Given the description of an element on the screen output the (x, y) to click on. 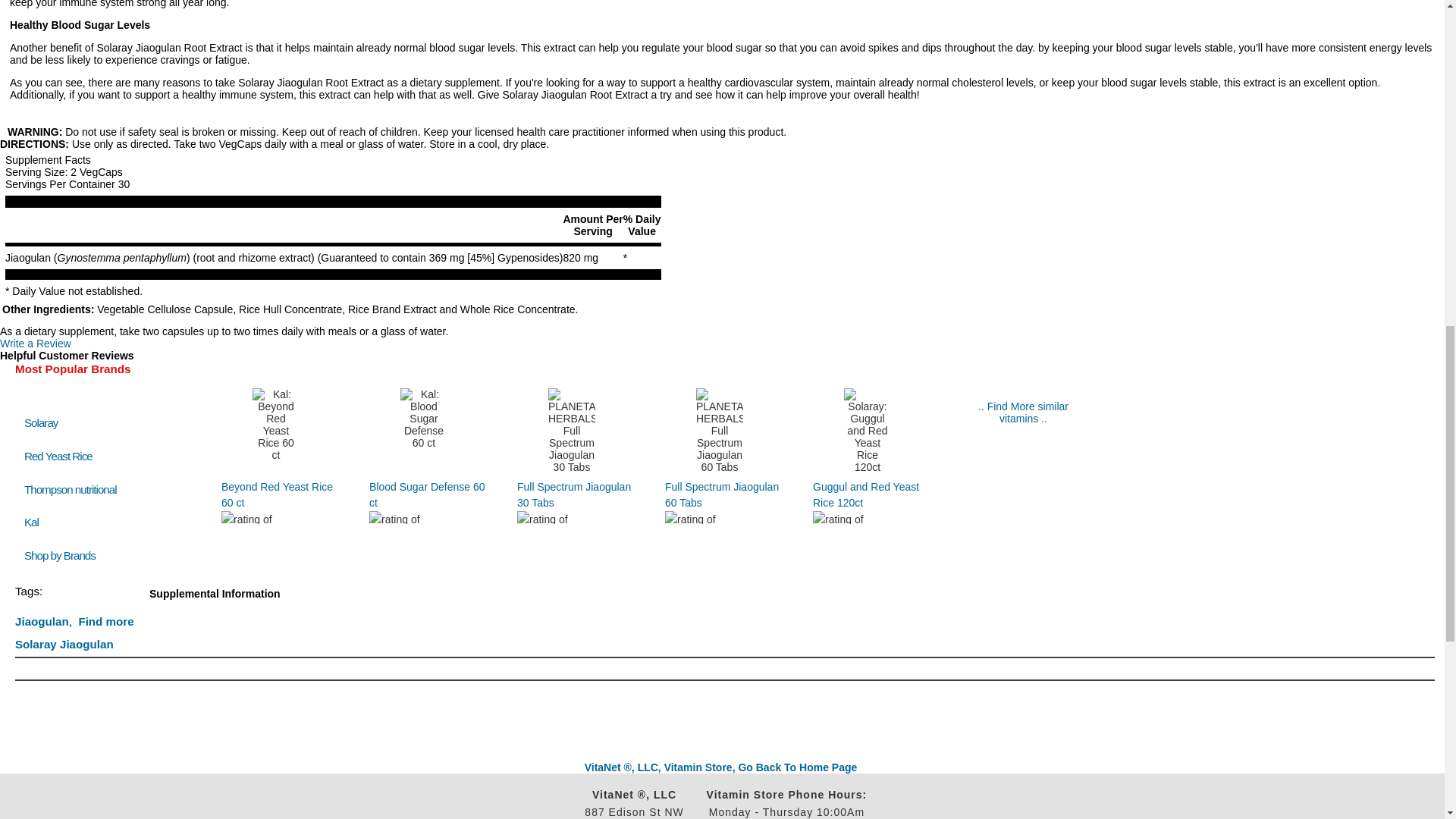
Find more Solaray Jiaogulan (73, 632)
Thompson nutritional (70, 489)
VitaNet Home Page Link (721, 767)
red yeast rice extract (58, 455)
Solaray (41, 422)
Shop by Brand Complete list (62, 554)
Solaray Products (41, 422)
Red Yeast Rice (58, 455)
Kal (31, 521)
Kal Brand Products (31, 521)
